Given the description of an element on the screen output the (x, y) to click on. 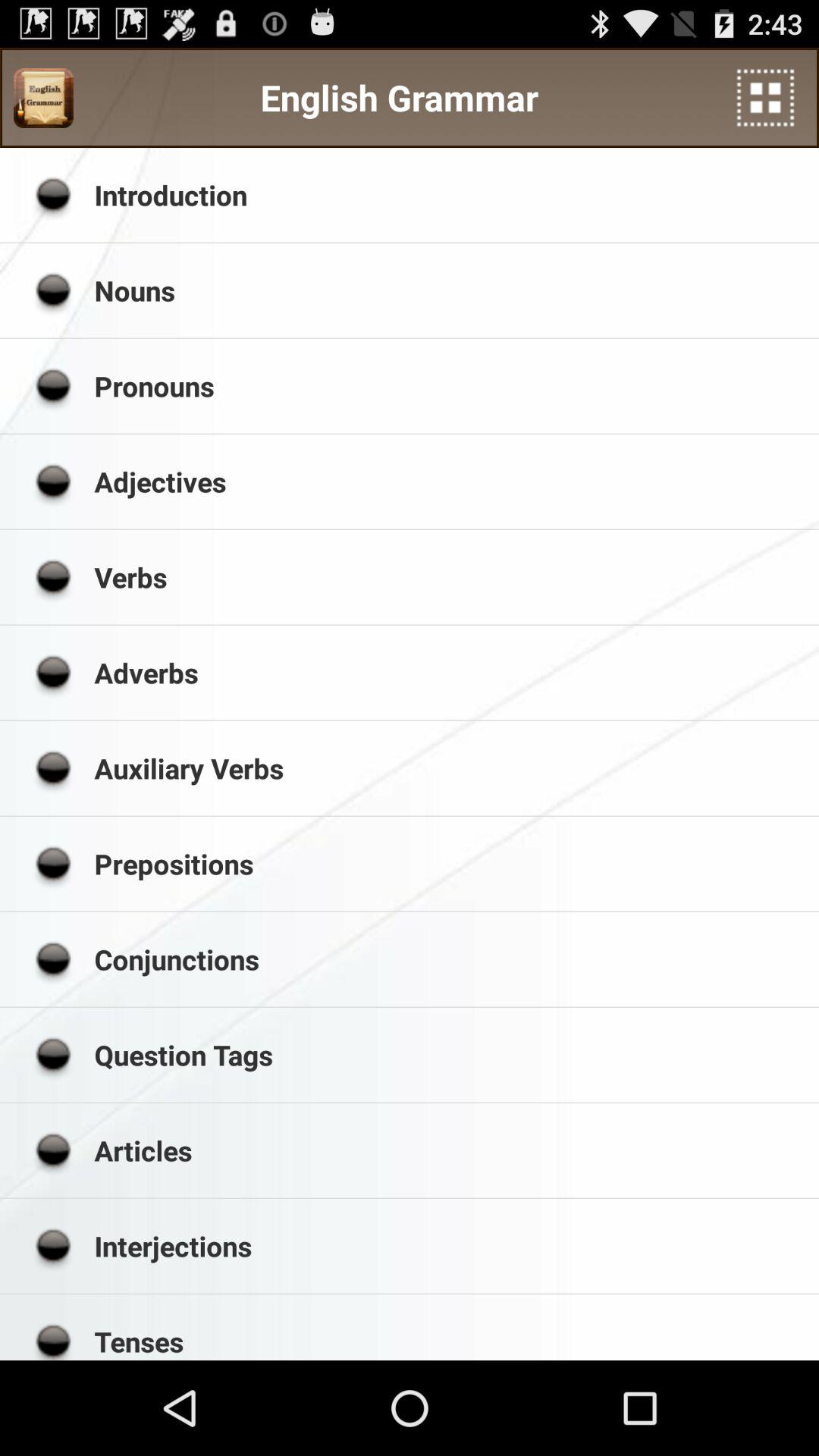
select the conjunctions item (451, 959)
